Given the description of an element on the screen output the (x, y) to click on. 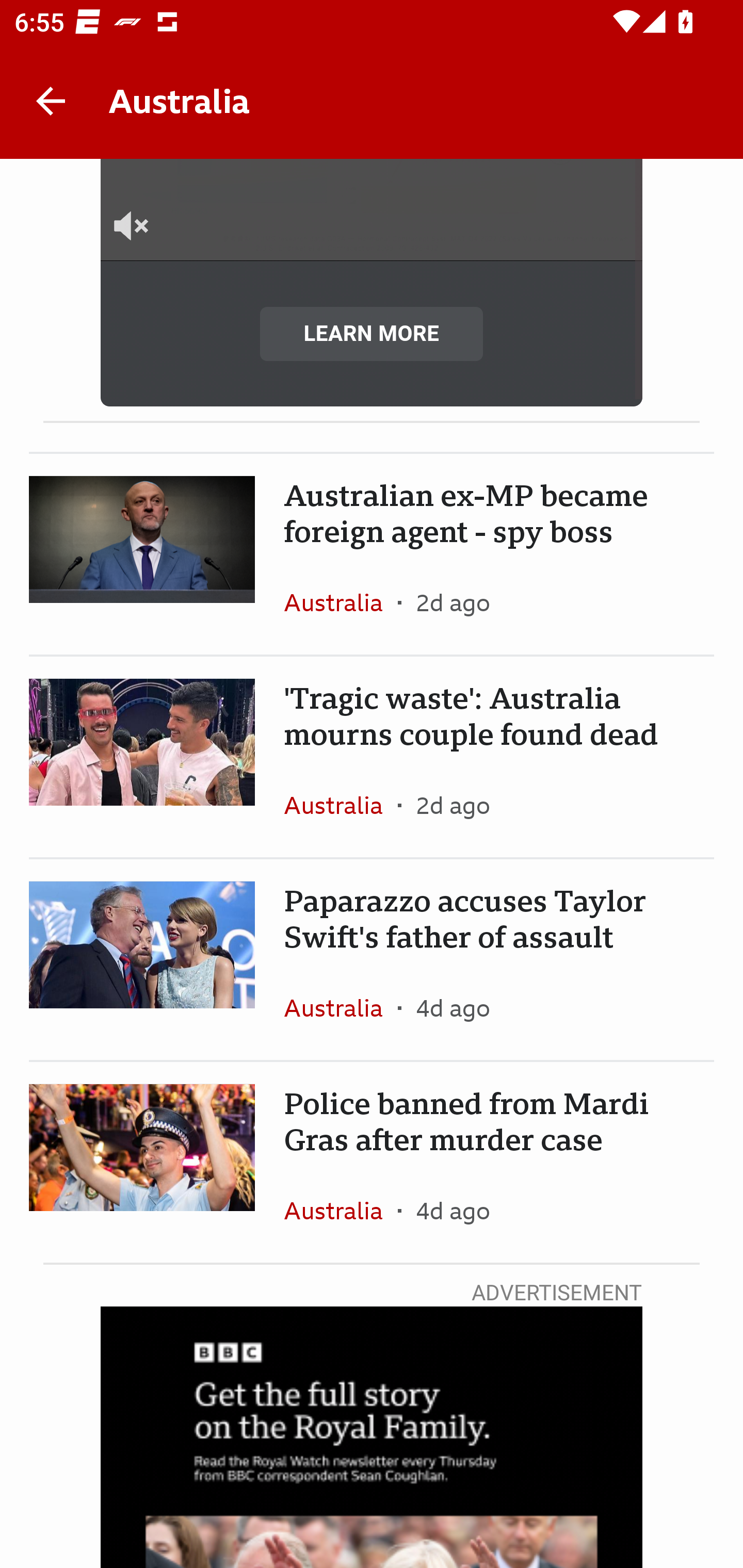
Back (50, 101)
Replay (372, 104)
Video Player Replay Volume LEARN MORE (371, 282)
Volume (148, 240)
LEARN MORE (371, 333)
Australia In the section Australia (340, 601)
Australia In the section Australia (340, 804)
Australia In the section Australia (340, 1007)
Australia In the section Australia (340, 1210)
